Given the description of an element on the screen output the (x, y) to click on. 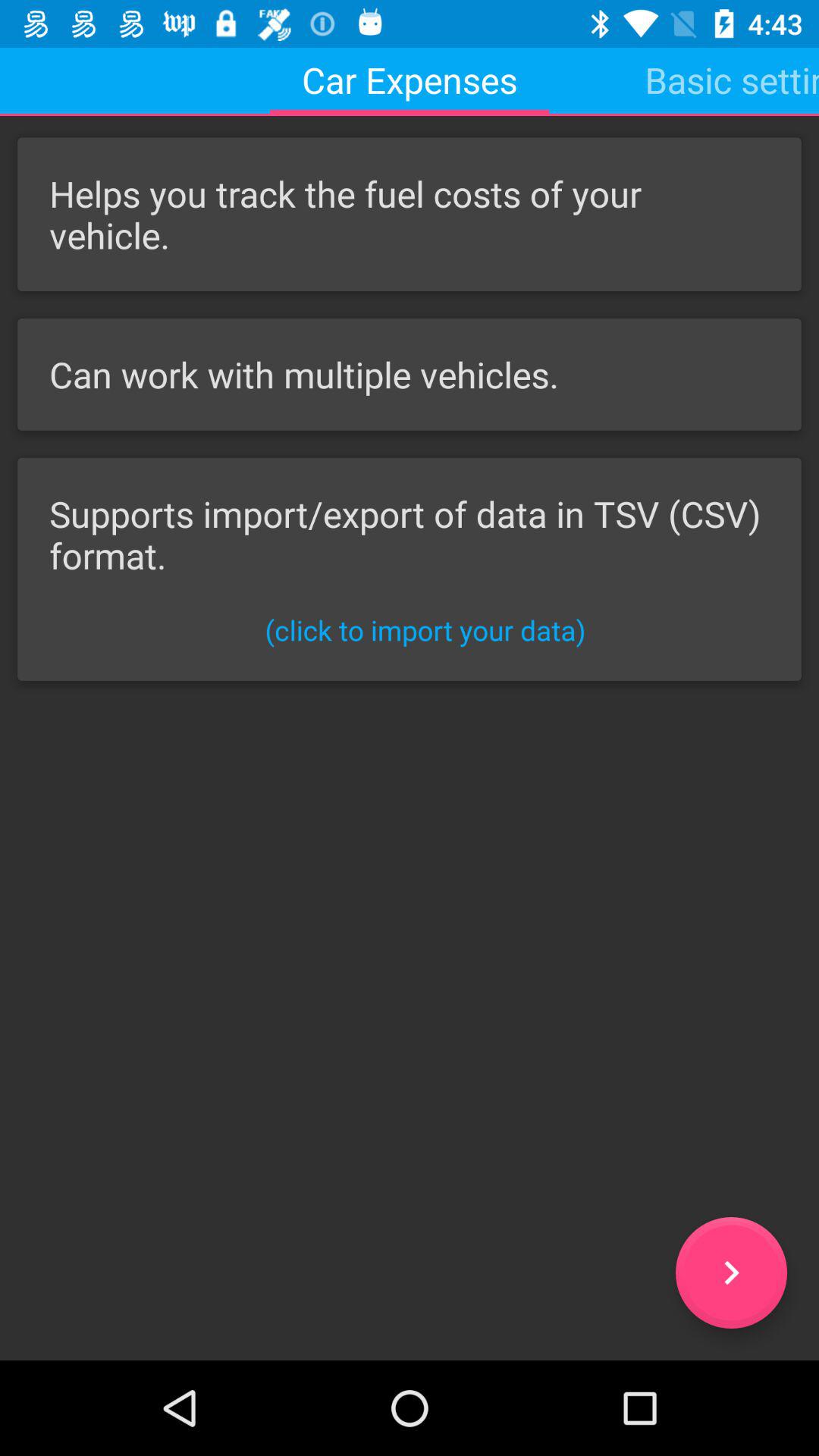
turn on the basic settings icon (731, 79)
